Given the description of an element on the screen output the (x, y) to click on. 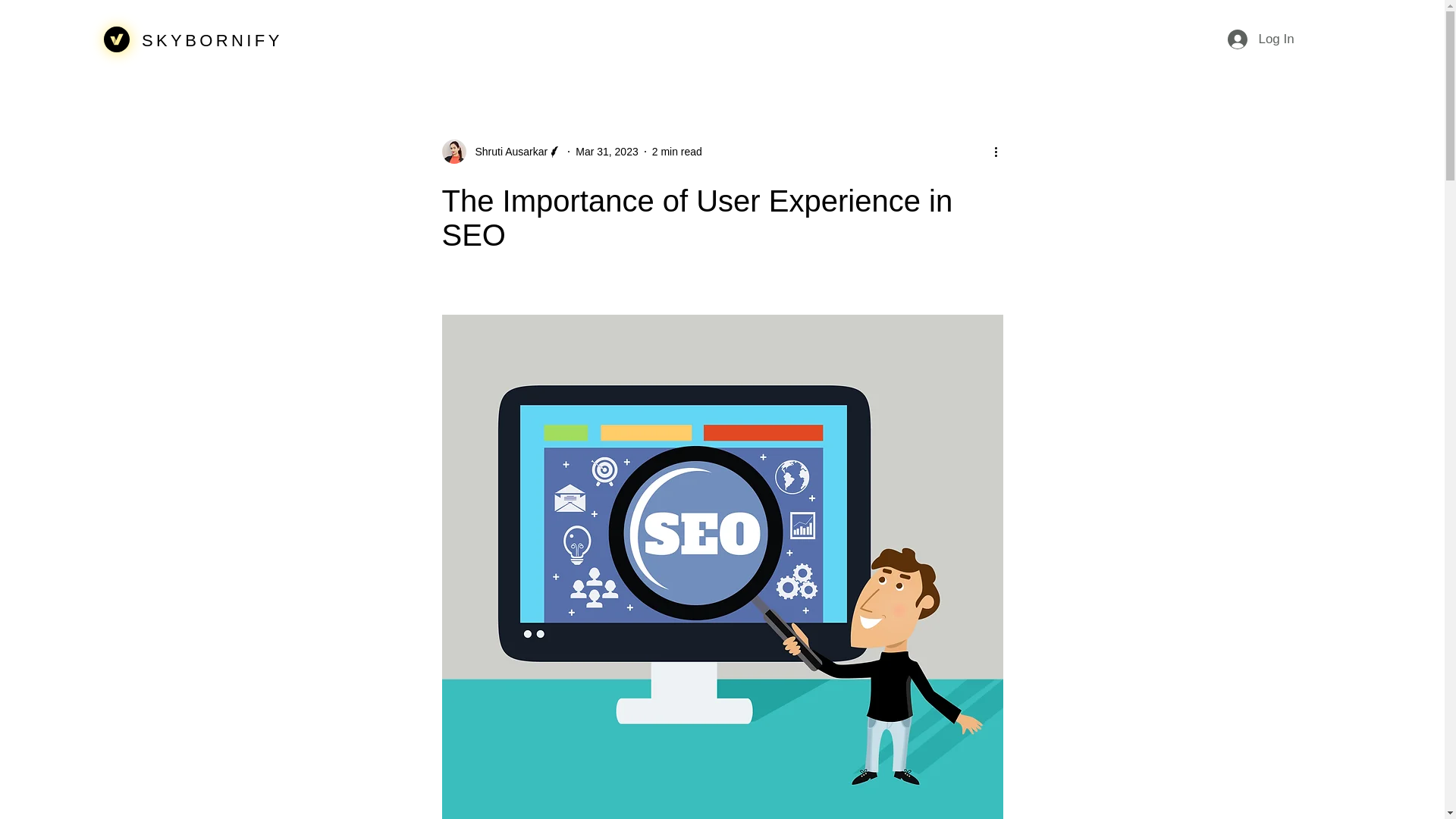
Shruti Ausarkar (501, 151)
Log In (1260, 39)
Mar 31, 2023 (607, 151)
Shruti Ausarkar (506, 151)
2 min read (676, 151)
